Given the description of an element on the screen output the (x, y) to click on. 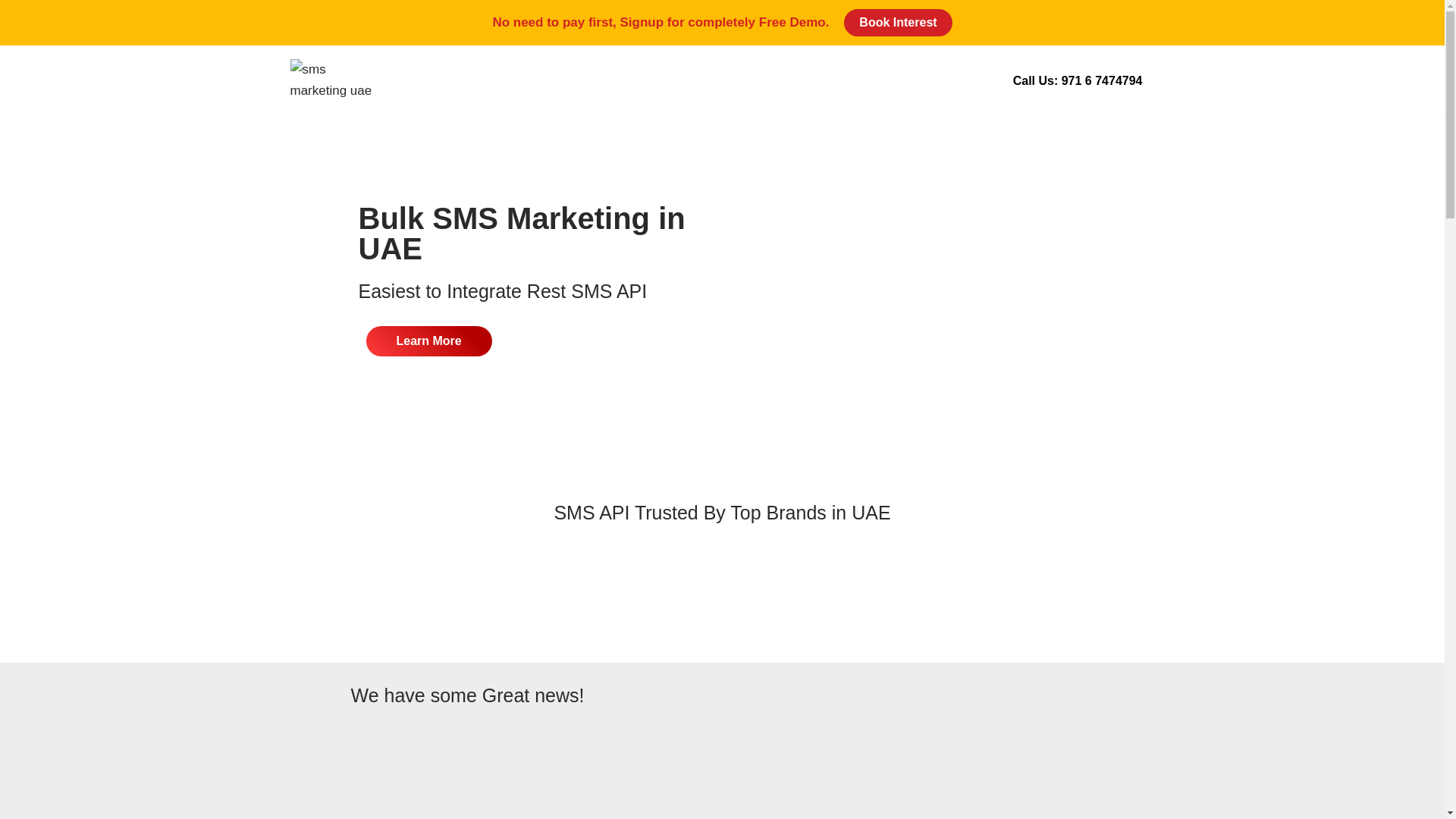
Book Interest (898, 22)
Bulk SMS Marketing in UAE (338, 80)
Skip to content (11, 31)
Learn More (428, 340)
Call Us: 971 6 7474794 (1077, 81)
